Given the description of an element on the screen output the (x, y) to click on. 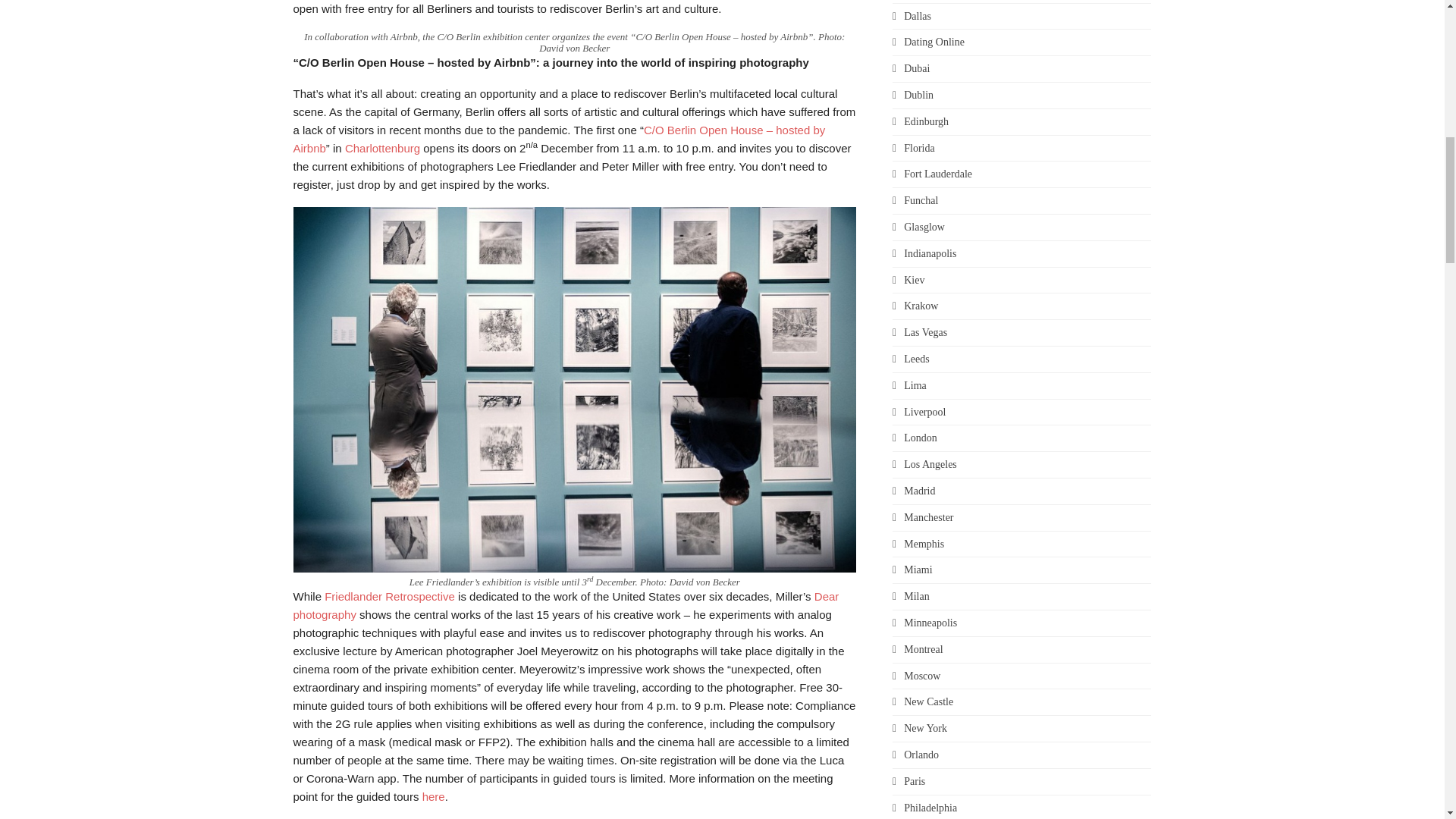
Charlottenburg (382, 147)
Friedlander Retrospective (389, 595)
here (433, 796)
Dear photography (565, 604)
